Given the description of an element on the screen output the (x, y) to click on. 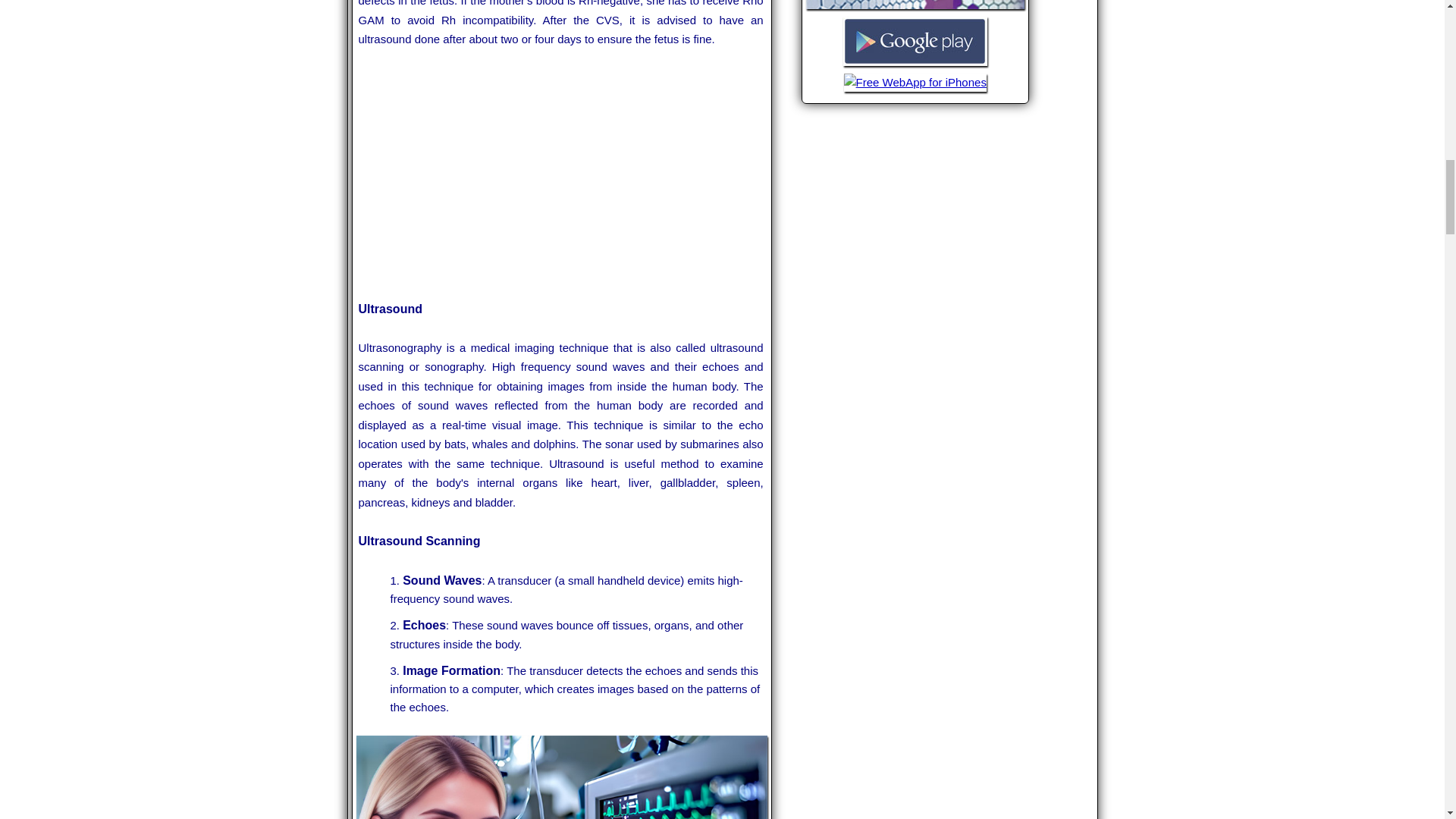
Free WebApp for Apple iPhones (915, 89)
Advertisement (561, 173)
Check all your health queries right from your mobile (915, 6)
Free Android Health App (915, 63)
